Given the description of an element on the screen output the (x, y) to click on. 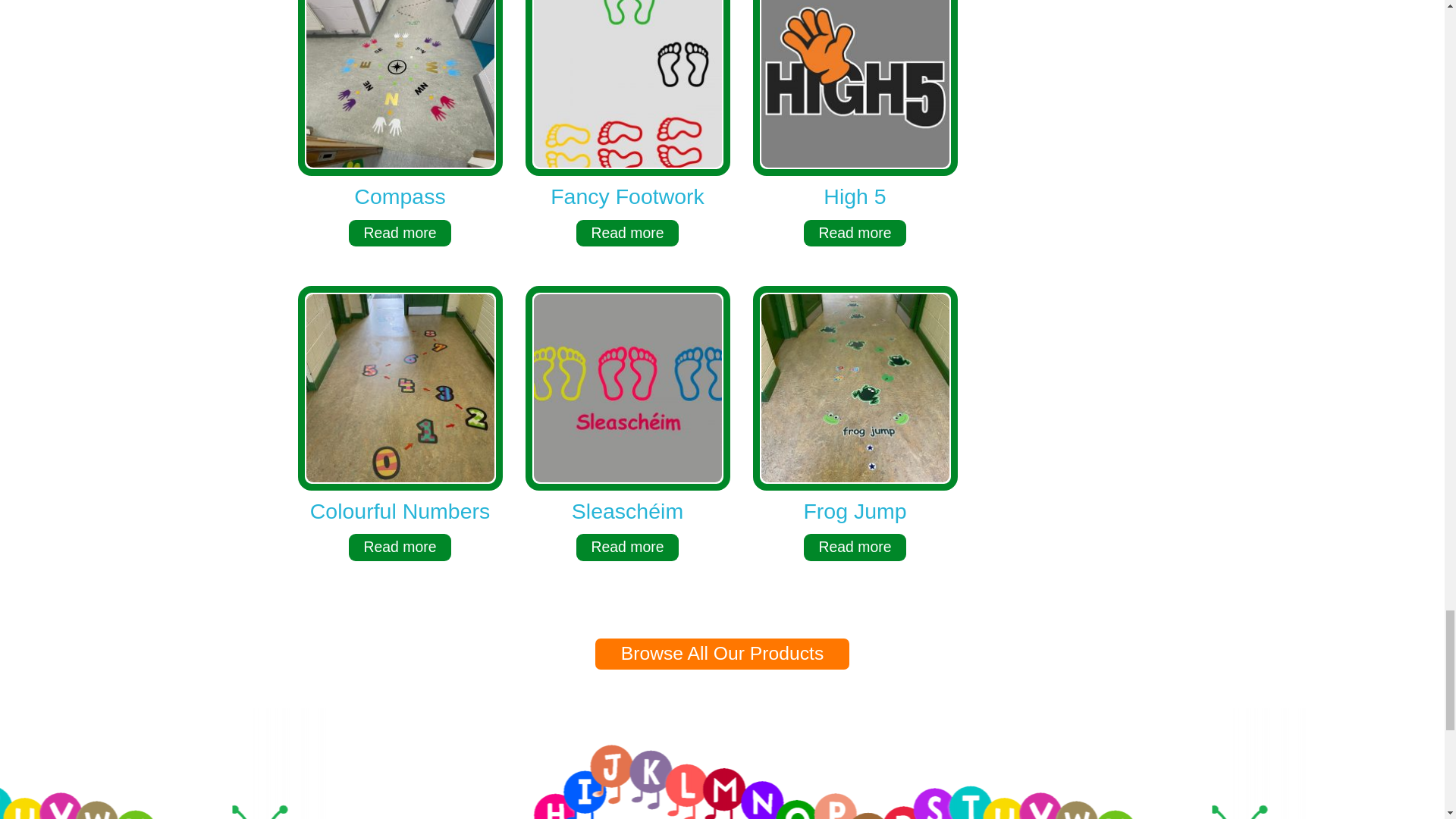
Read more (627, 546)
High 5 (854, 196)
Read more (855, 233)
Read more (627, 233)
Compass (399, 196)
Colourful Numbers (399, 511)
Browse All Our Products (722, 653)
Read more (400, 546)
Frog Jump (854, 511)
Fancy Footwork (626, 196)
